Given the description of an element on the screen output the (x, y) to click on. 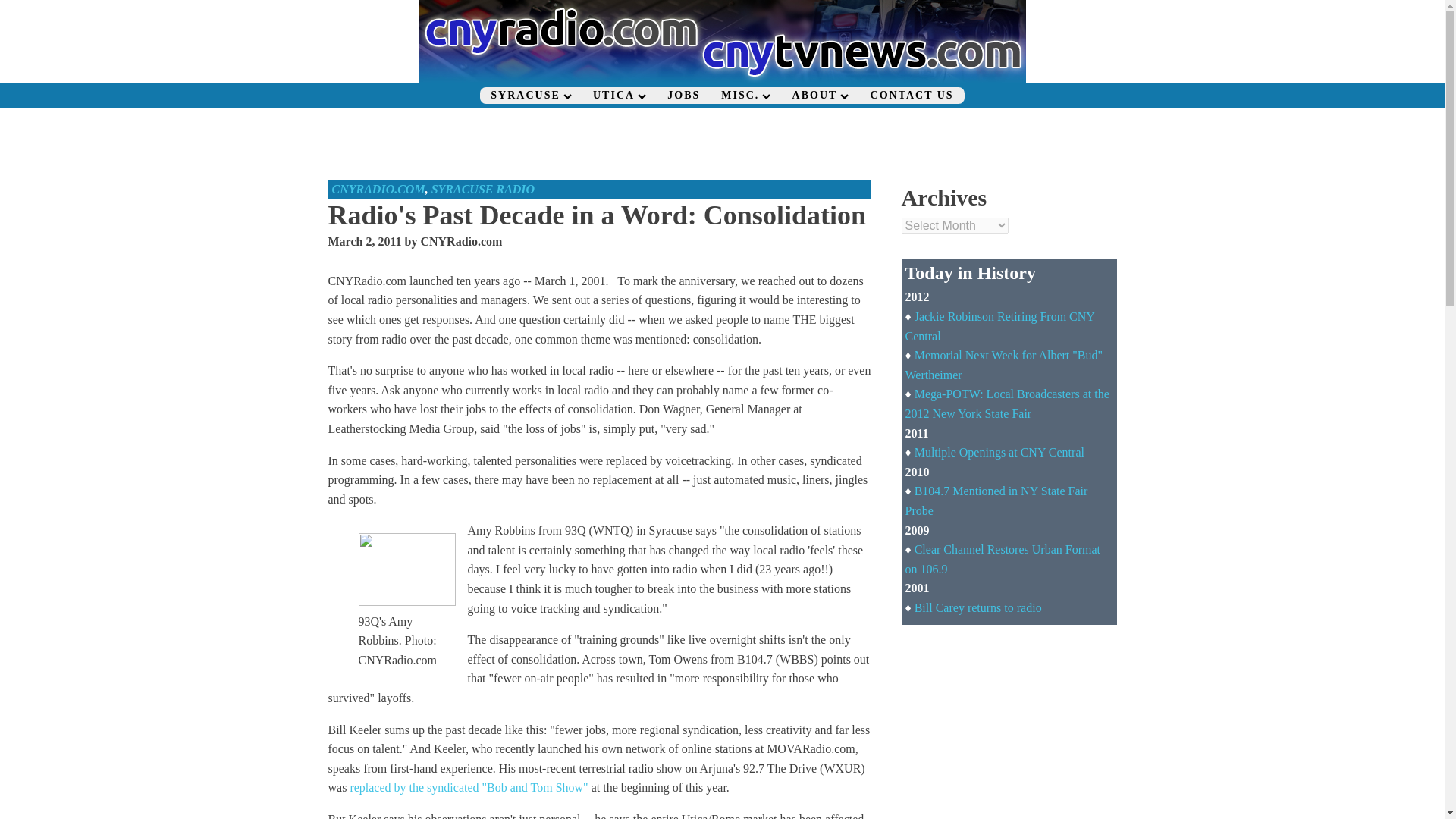
JOBS (683, 95)
UTICA (619, 95)
MISC. (745, 95)
ABOUT (820, 95)
replaced by the syndicated "Bob and Tom Show" (468, 787)
SYRACUSE (531, 95)
SYRACUSE RADIO (482, 188)
CNYRADIO.COM (378, 188)
CONTACT US (911, 95)
